Given the description of an element on the screen output the (x, y) to click on. 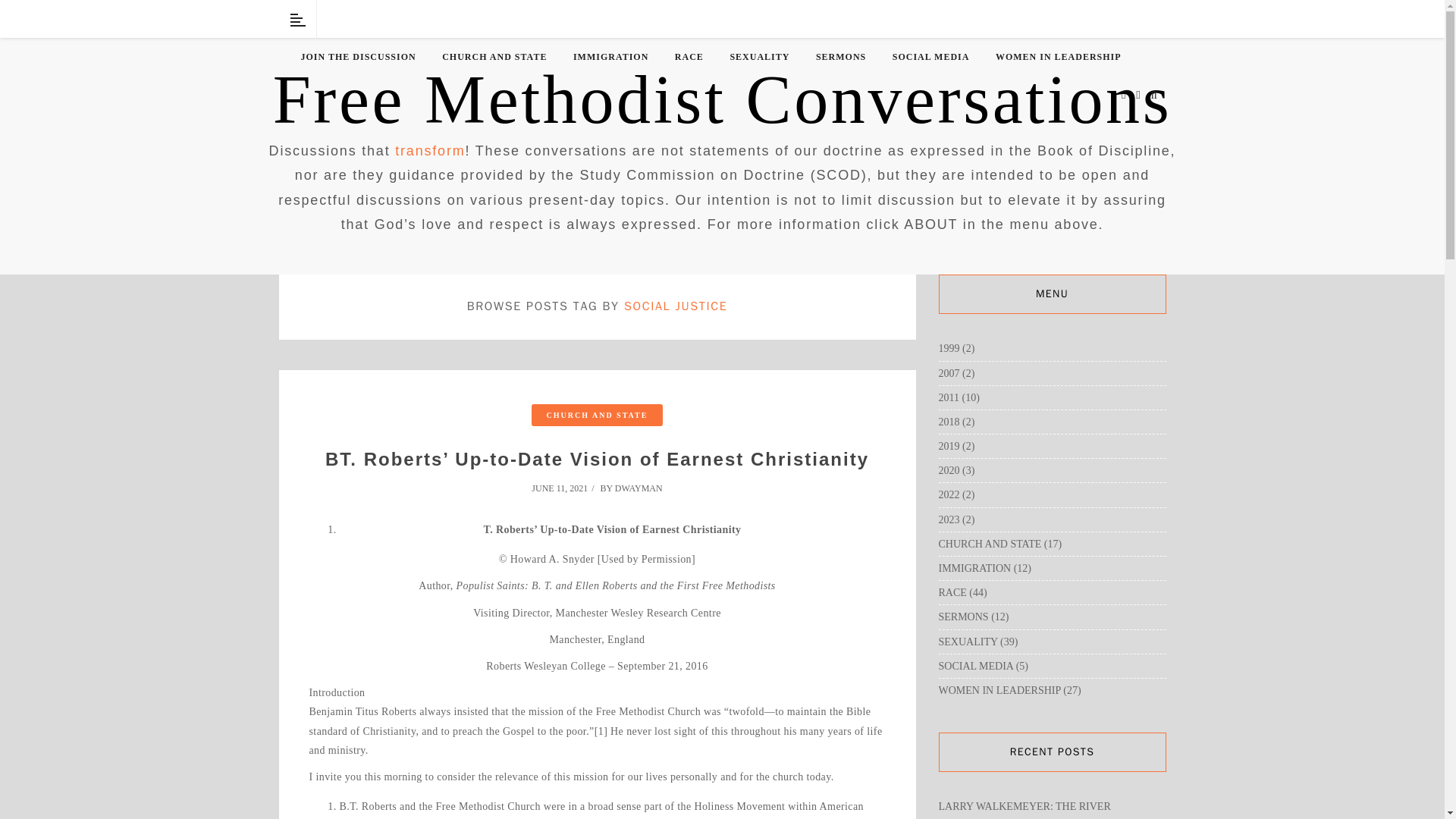
JUNE 11, 2021 (563, 488)
CHURCH AND STATE (597, 414)
SEXUALITY (759, 56)
JOIN THE DISCUSSION (356, 56)
SERMONS (840, 56)
CHURCH AND STATE (494, 56)
WOMEN IN LEADERSHIP (1058, 56)
DWAYMAN (638, 488)
IMMIGRATION (610, 56)
Free Methodist Conversations (722, 99)
